Given the description of an element on the screen output the (x, y) to click on. 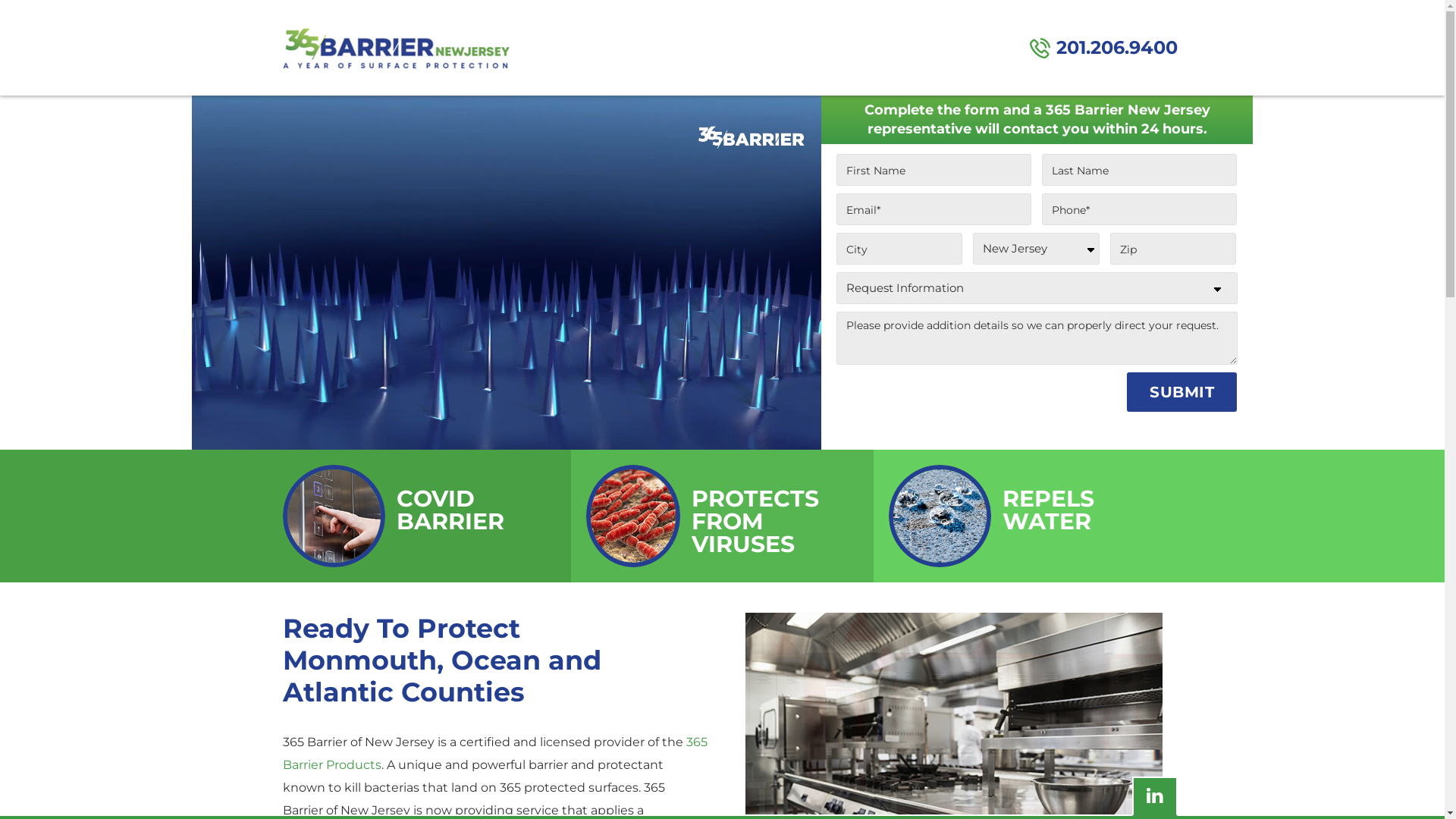
PROTECTS
FROM VIRUSES Element type: text (722, 515)
201.206.9400 Element type: text (1103, 47)
365 Barrier Products Element type: text (494, 752)
COVID
BARRIER Element type: text (418, 515)
SUBMIT Element type: text (1181, 391)
REPELS
WATER Element type: text (1024, 515)
